Given the description of an element on the screen output the (x, y) to click on. 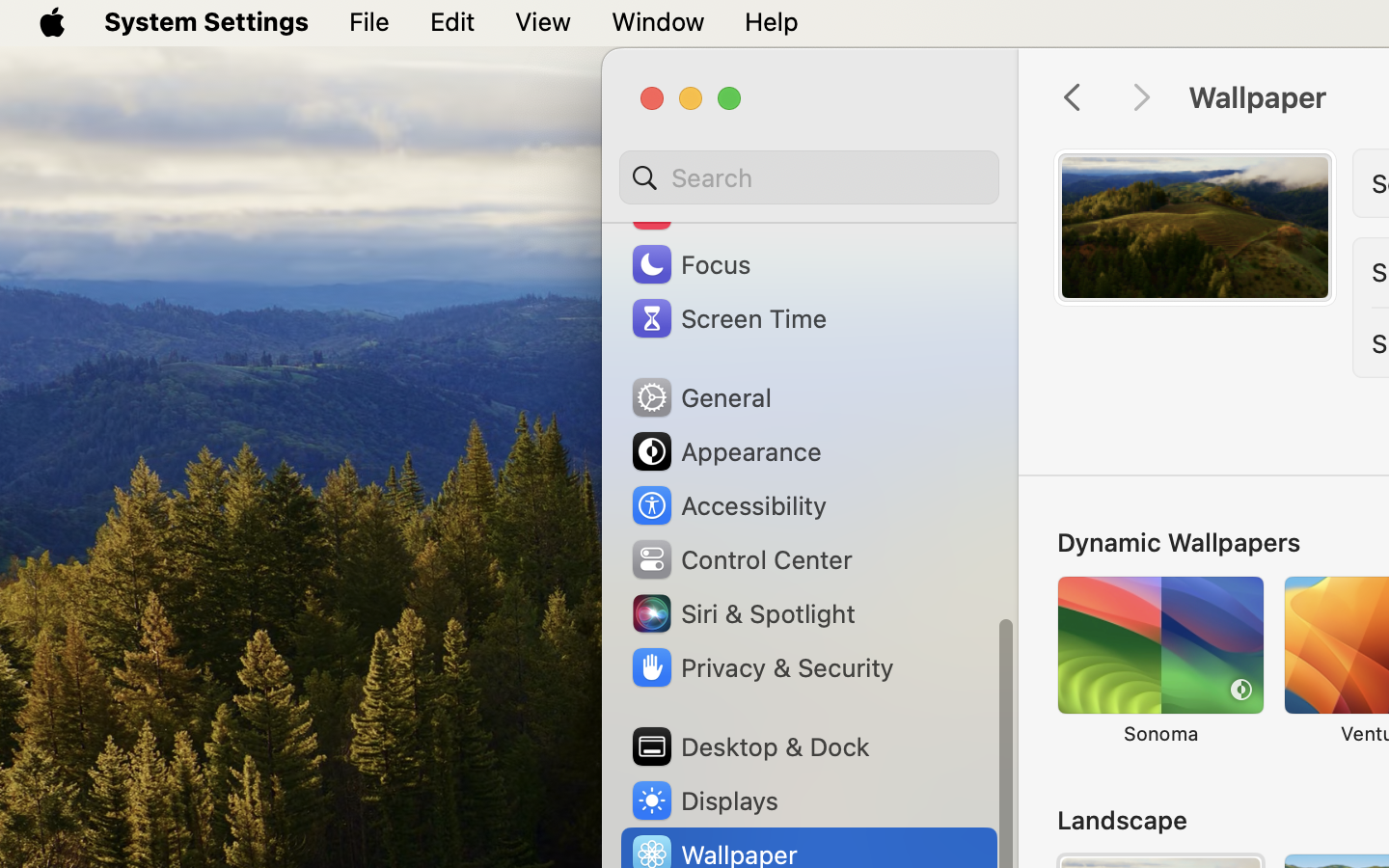
Screen Time Element type: AXStaticText (727, 318)
Siri & Spotlight Element type: AXStaticText (741, 613)
General Element type: AXStaticText (699, 397)
Displays Element type: AXStaticText (703, 800)
Focus Element type: AXStaticText (689, 264)
